Given the description of an element on the screen output the (x, y) to click on. 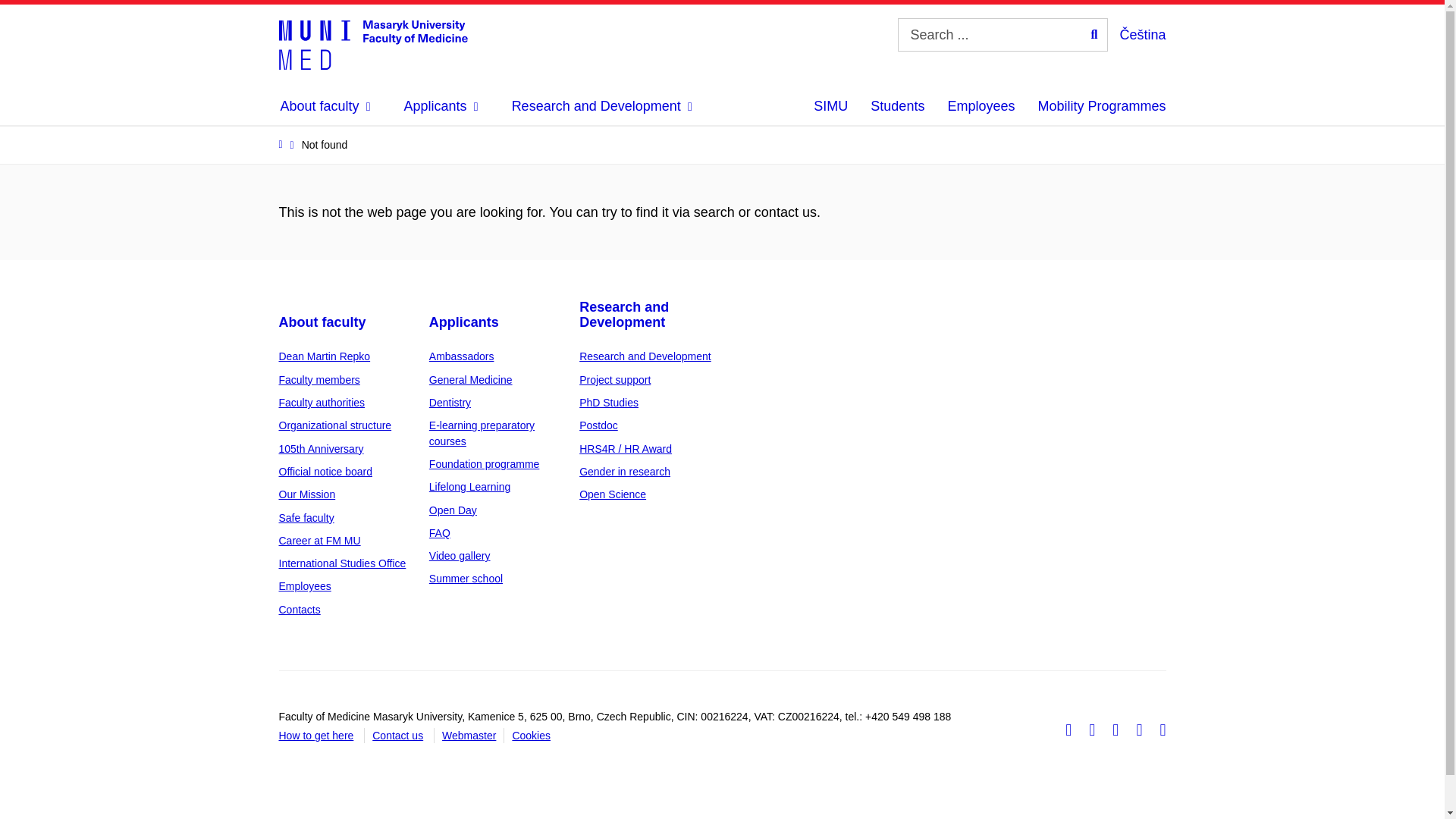
Applicants (441, 105)
About faculty (321, 449)
About faculty (335, 425)
About faculty (326, 105)
About faculty (305, 585)
Masaryk University Faculty of Medicine (373, 43)
Research and Development (602, 105)
Applicants (464, 322)
Homepage site (373, 43)
About faculty (306, 517)
Masaryk University Faculty of Medicine (373, 43)
About faculty (307, 494)
Applicants (470, 379)
About faculty (320, 540)
About faculty (322, 322)
